Given the description of an element on the screen output the (x, y) to click on. 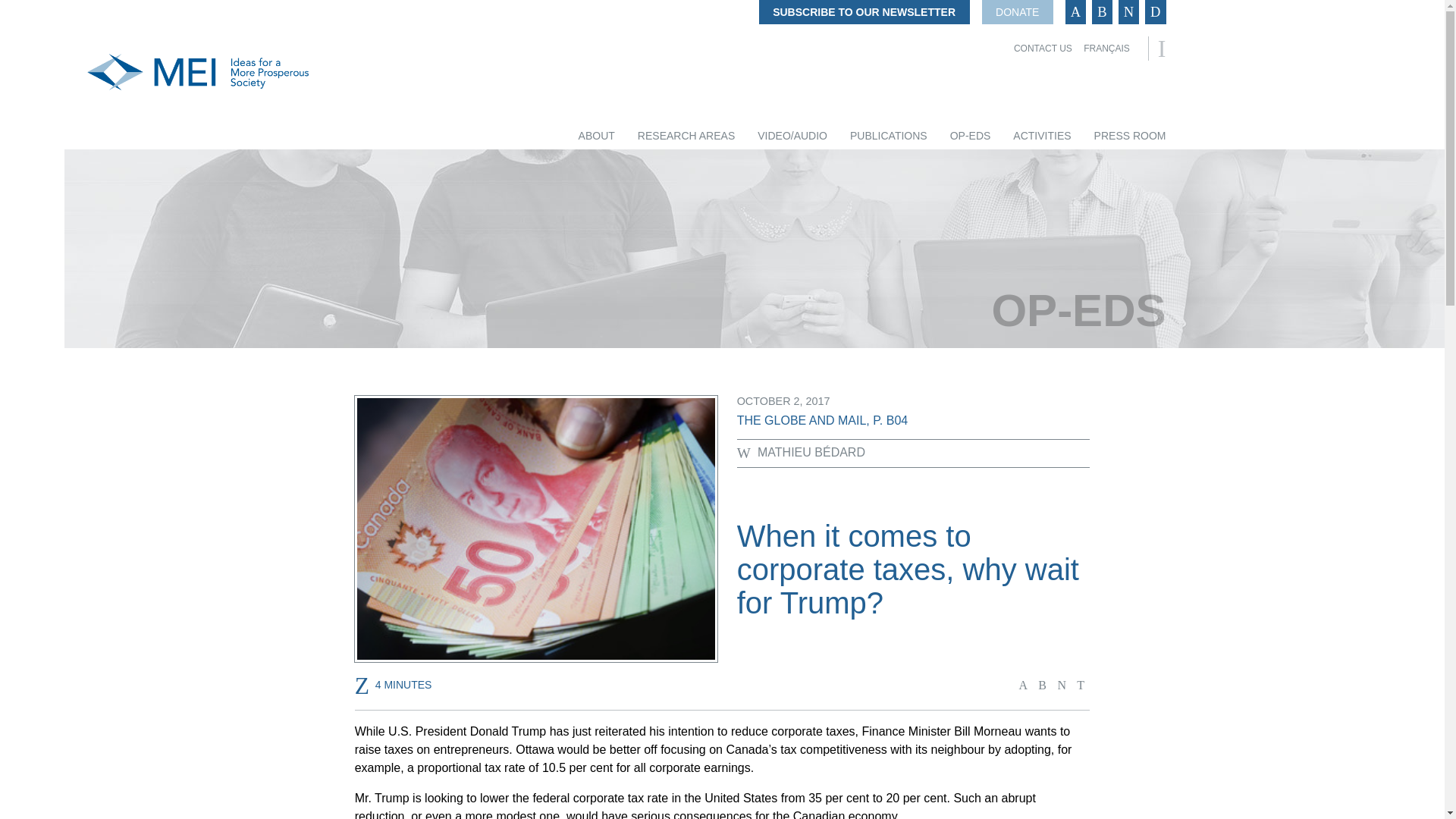
RESEARCH AREAS (686, 135)
PUBLICATIONS (888, 135)
ABOUT (596, 135)
